Given the description of an element on the screen output the (x, y) to click on. 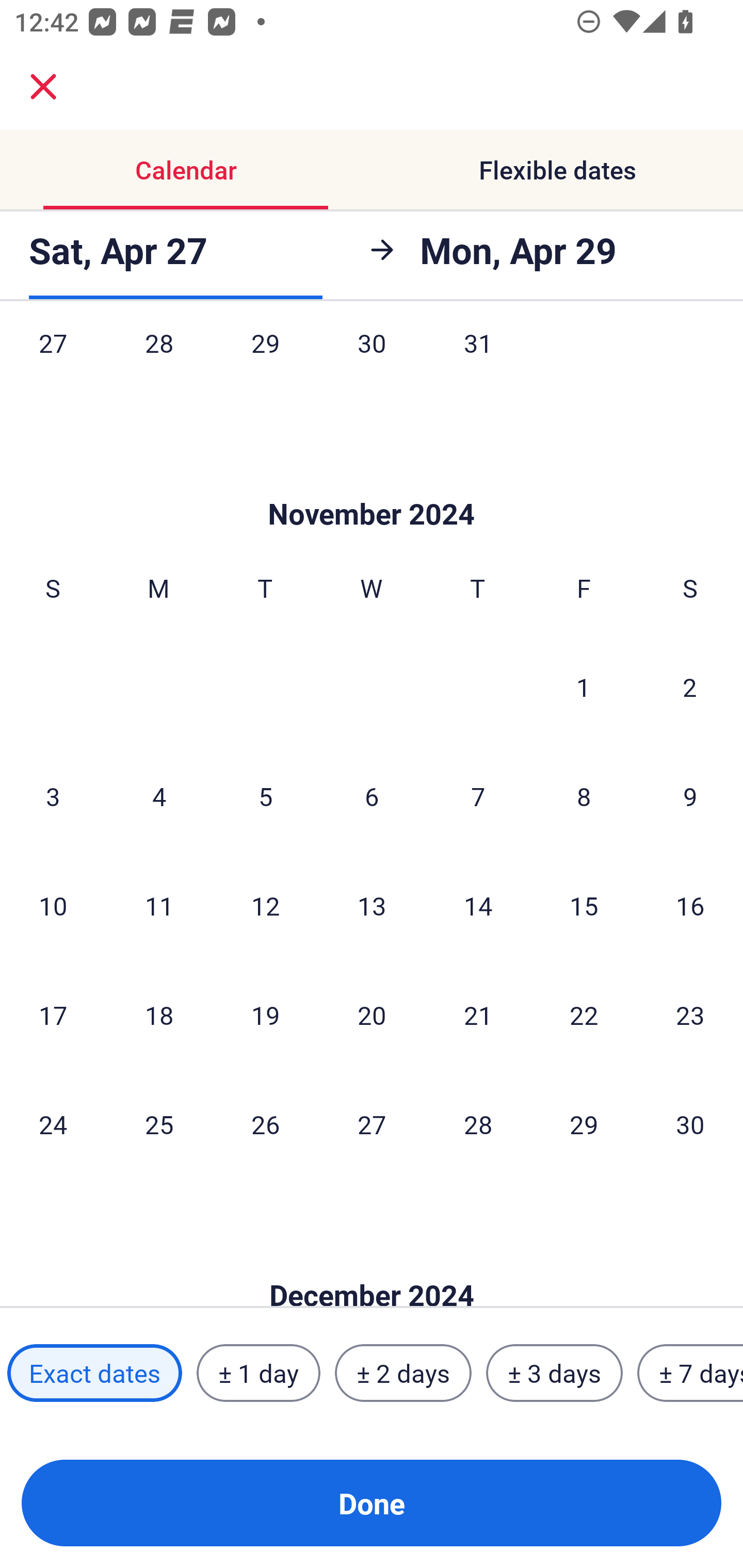
close. (43, 86)
Flexible dates (557, 170)
27 Sunday, October 27, 2024 (53, 362)
28 Monday, October 28, 2024 (159, 362)
29 Tuesday, October 29, 2024 (265, 362)
30 Wednesday, October 30, 2024 (371, 362)
31 Thursday, October 31, 2024 (477, 362)
Skip to Done (371, 483)
1 Friday, November 1, 2024 (583, 686)
2 Saturday, November 2, 2024 (689, 686)
3 Sunday, November 3, 2024 (53, 795)
4 Monday, November 4, 2024 (159, 795)
5 Tuesday, November 5, 2024 (265, 795)
6 Wednesday, November 6, 2024 (371, 795)
7 Thursday, November 7, 2024 (477, 795)
8 Friday, November 8, 2024 (584, 795)
9 Saturday, November 9, 2024 (690, 795)
10 Sunday, November 10, 2024 (53, 905)
11 Monday, November 11, 2024 (159, 905)
12 Tuesday, November 12, 2024 (265, 905)
13 Wednesday, November 13, 2024 (371, 905)
14 Thursday, November 14, 2024 (477, 905)
15 Friday, November 15, 2024 (584, 905)
16 Saturday, November 16, 2024 (690, 905)
17 Sunday, November 17, 2024 (53, 1014)
18 Monday, November 18, 2024 (159, 1014)
19 Tuesday, November 19, 2024 (265, 1014)
20 Wednesday, November 20, 2024 (371, 1014)
21 Thursday, November 21, 2024 (477, 1014)
22 Friday, November 22, 2024 (584, 1014)
23 Saturday, November 23, 2024 (690, 1014)
24 Sunday, November 24, 2024 (53, 1123)
25 Monday, November 25, 2024 (159, 1123)
26 Tuesday, November 26, 2024 (265, 1123)
27 Wednesday, November 27, 2024 (371, 1123)
28 Thursday, November 28, 2024 (477, 1123)
29 Friday, November 29, 2024 (584, 1123)
30 Saturday, November 30, 2024 (690, 1123)
Skip to Done (371, 1263)
Exact dates (94, 1372)
± 1 day (258, 1372)
± 2 days (403, 1372)
± 3 days (553, 1372)
± 7 days (690, 1372)
Done (371, 1502)
